Given the description of an element on the screen output the (x, y) to click on. 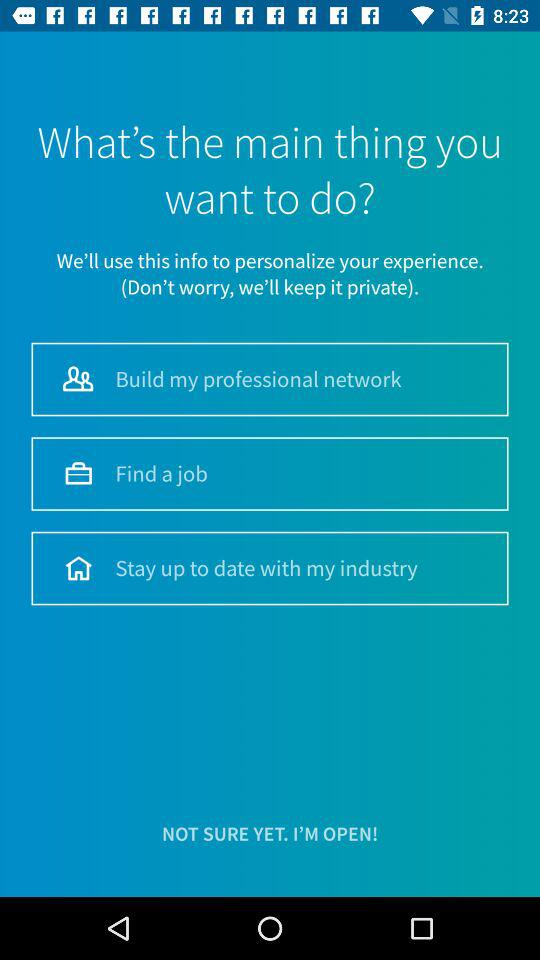
jump to not sure yet icon (269, 833)
